Given the description of an element on the screen output the (x, y) to click on. 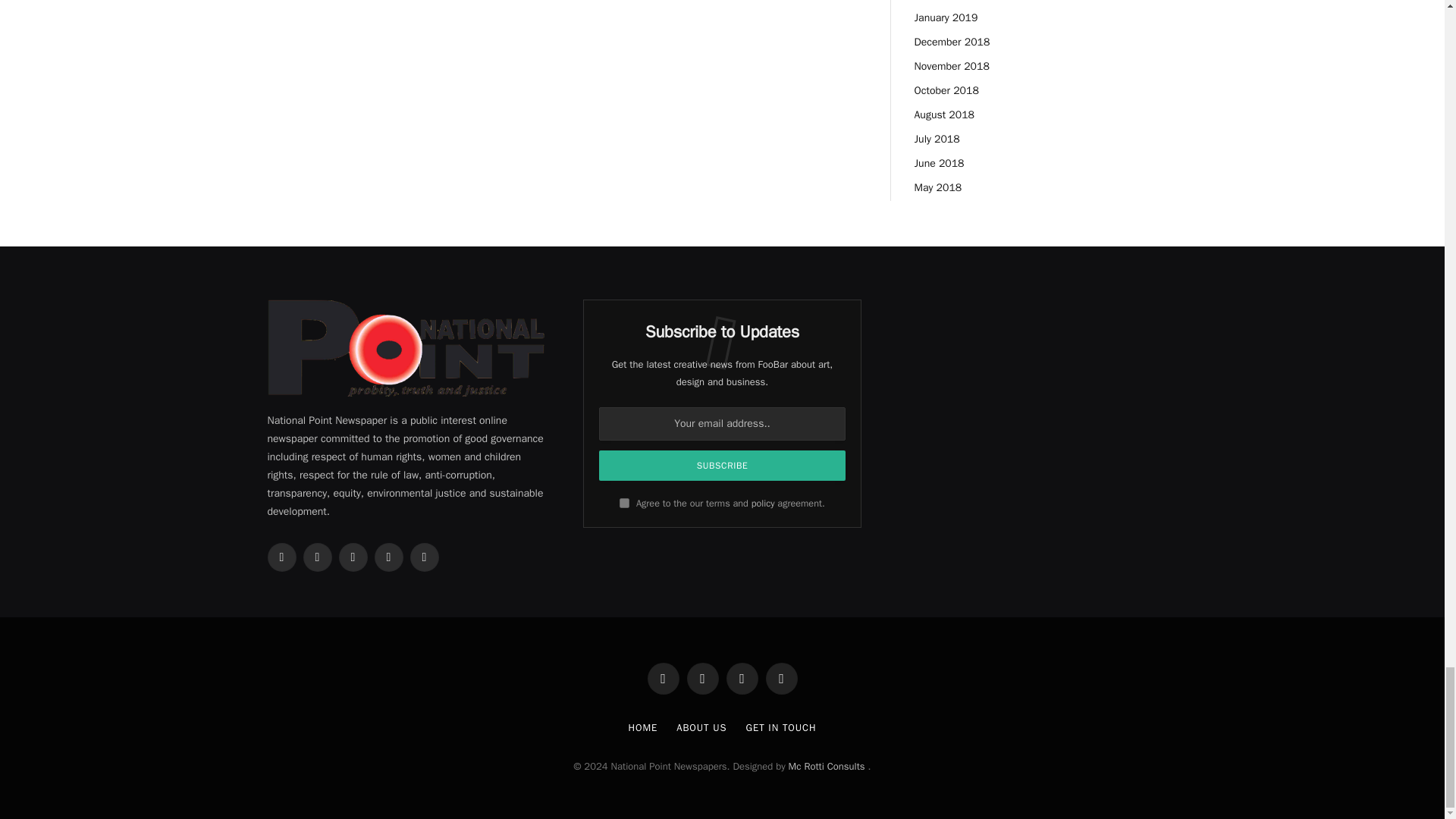
on (624, 502)
Subscribe (721, 465)
